Given the description of an element on the screen output the (x, y) to click on. 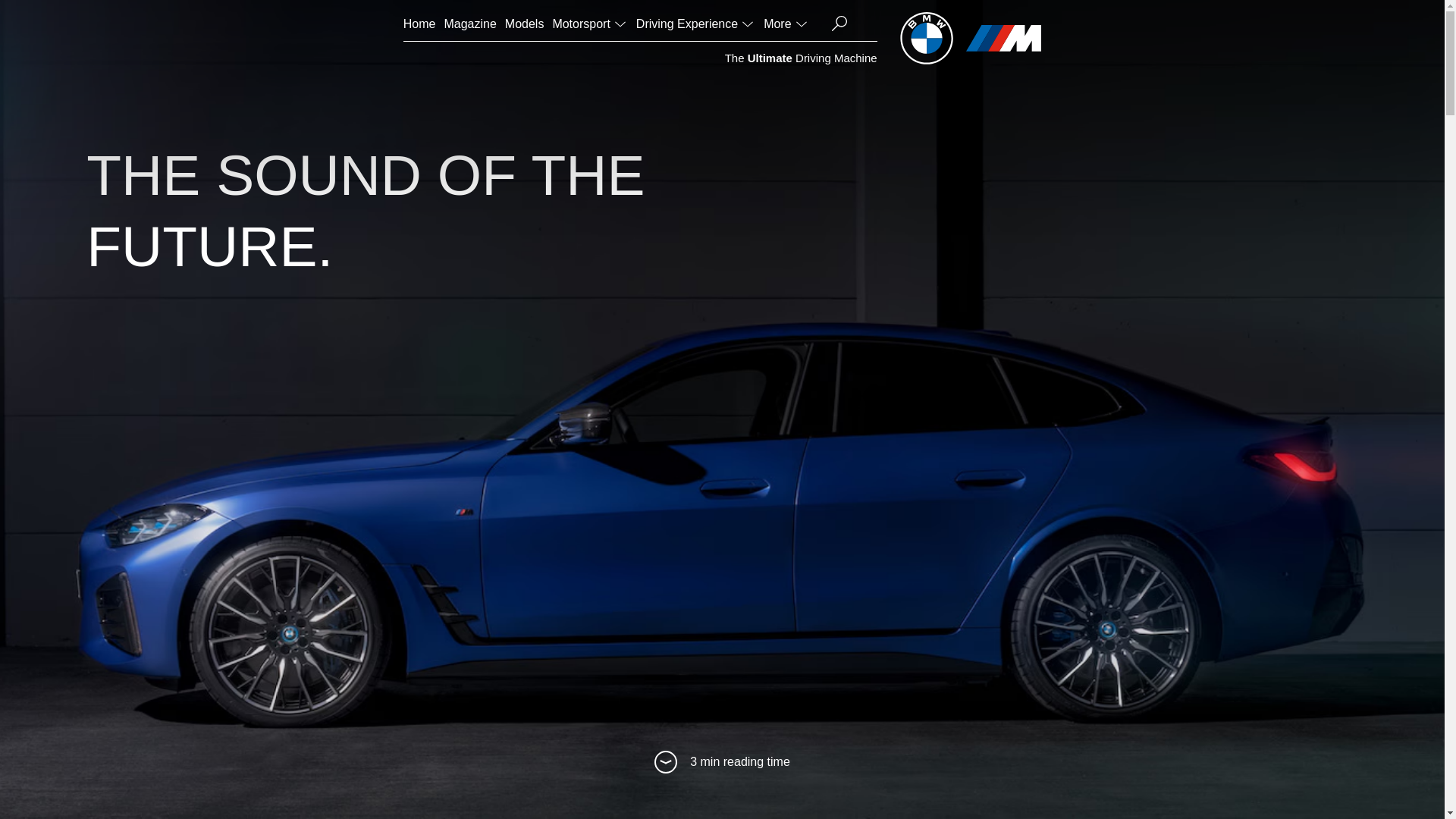
Magazine (470, 24)
More (785, 24)
Driving Experience (695, 24)
Magazine (470, 24)
Motorsport (589, 24)
